Given the description of an element on the screen output the (x, y) to click on. 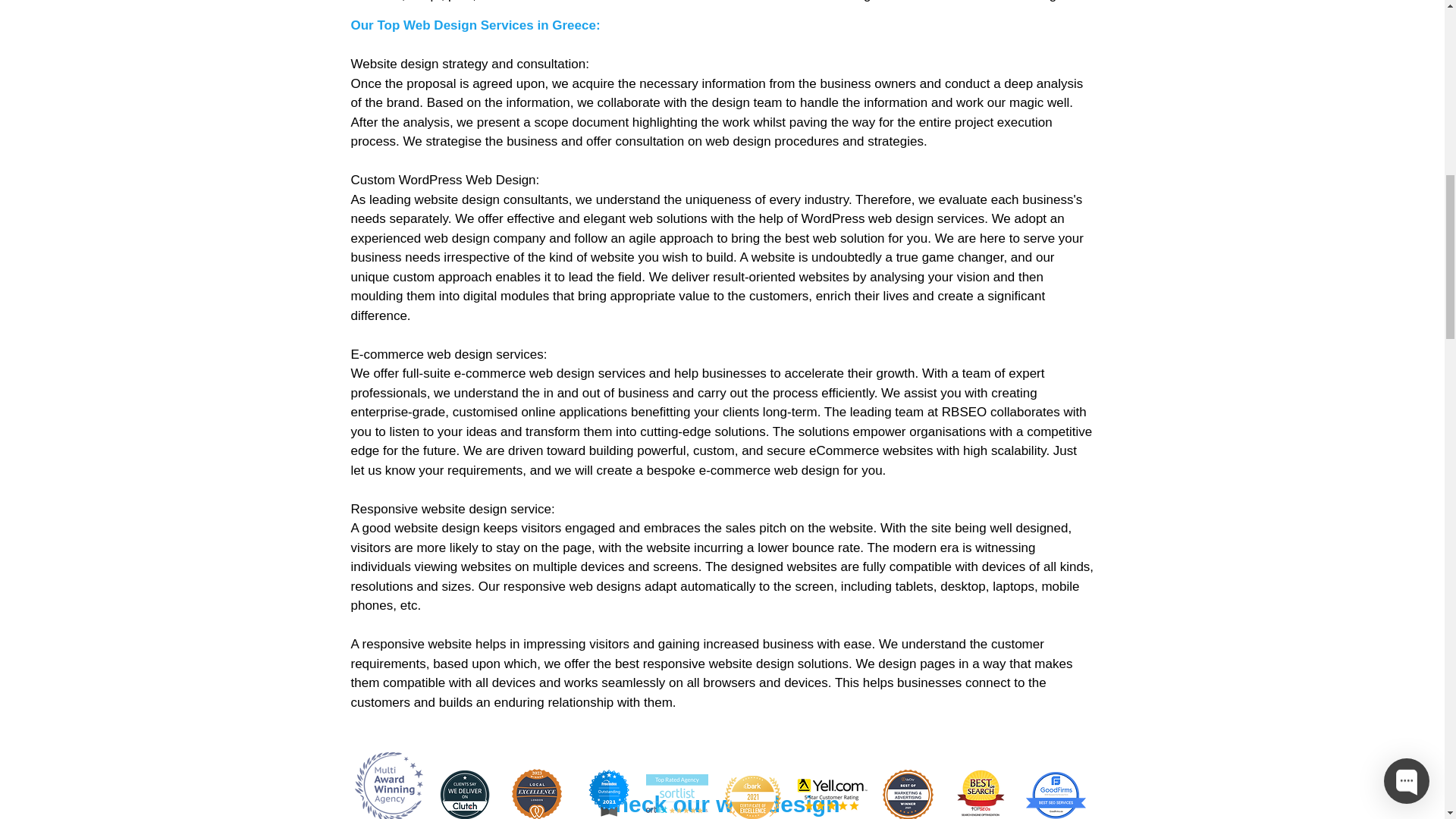
Upcity (907, 0)
Freeindex (608, 0)
Awards (389, 1)
